Given the description of an element on the screen output the (x, y) to click on. 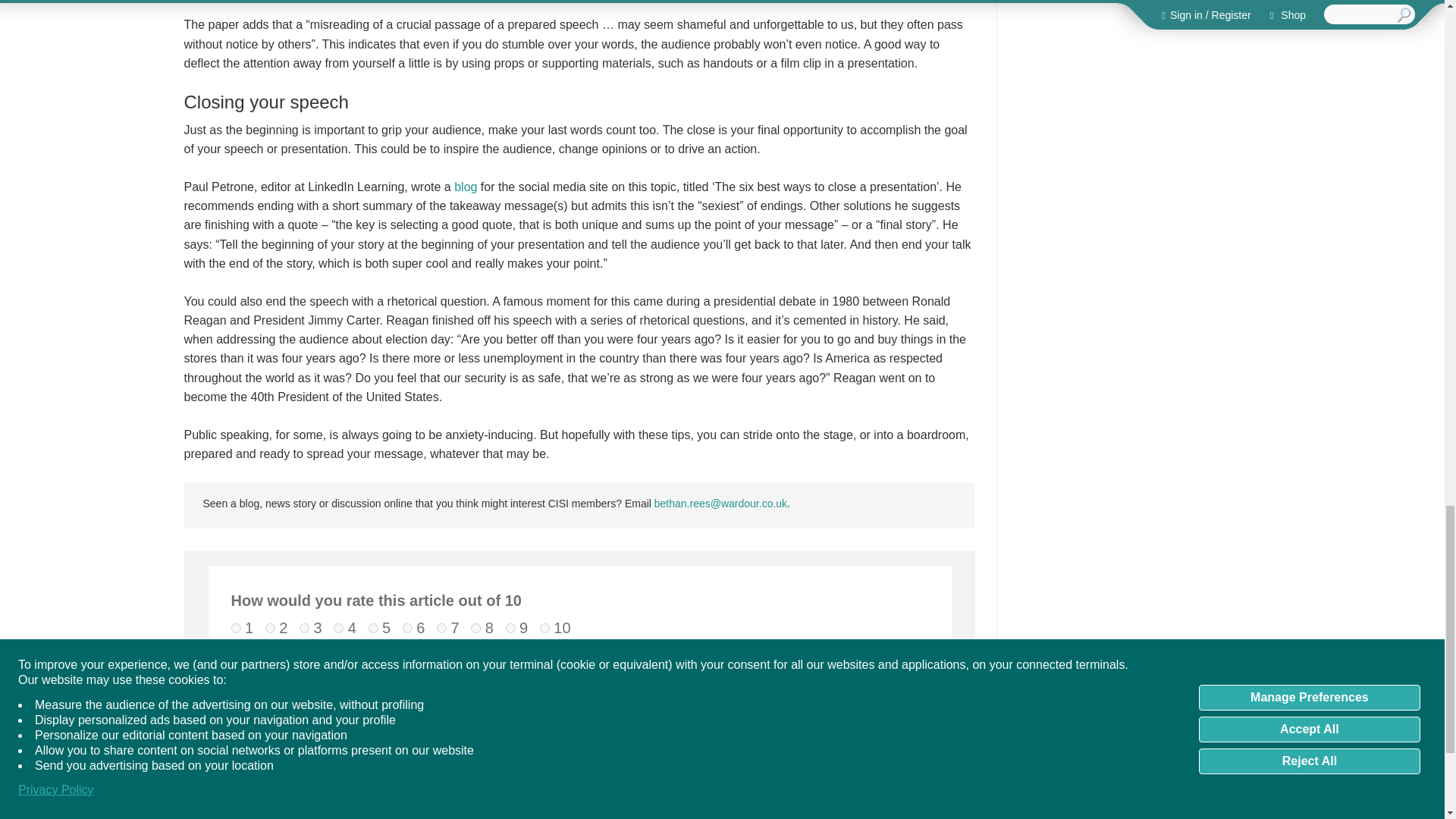
blog (465, 186)
